Given the description of an element on the screen output the (x, y) to click on. 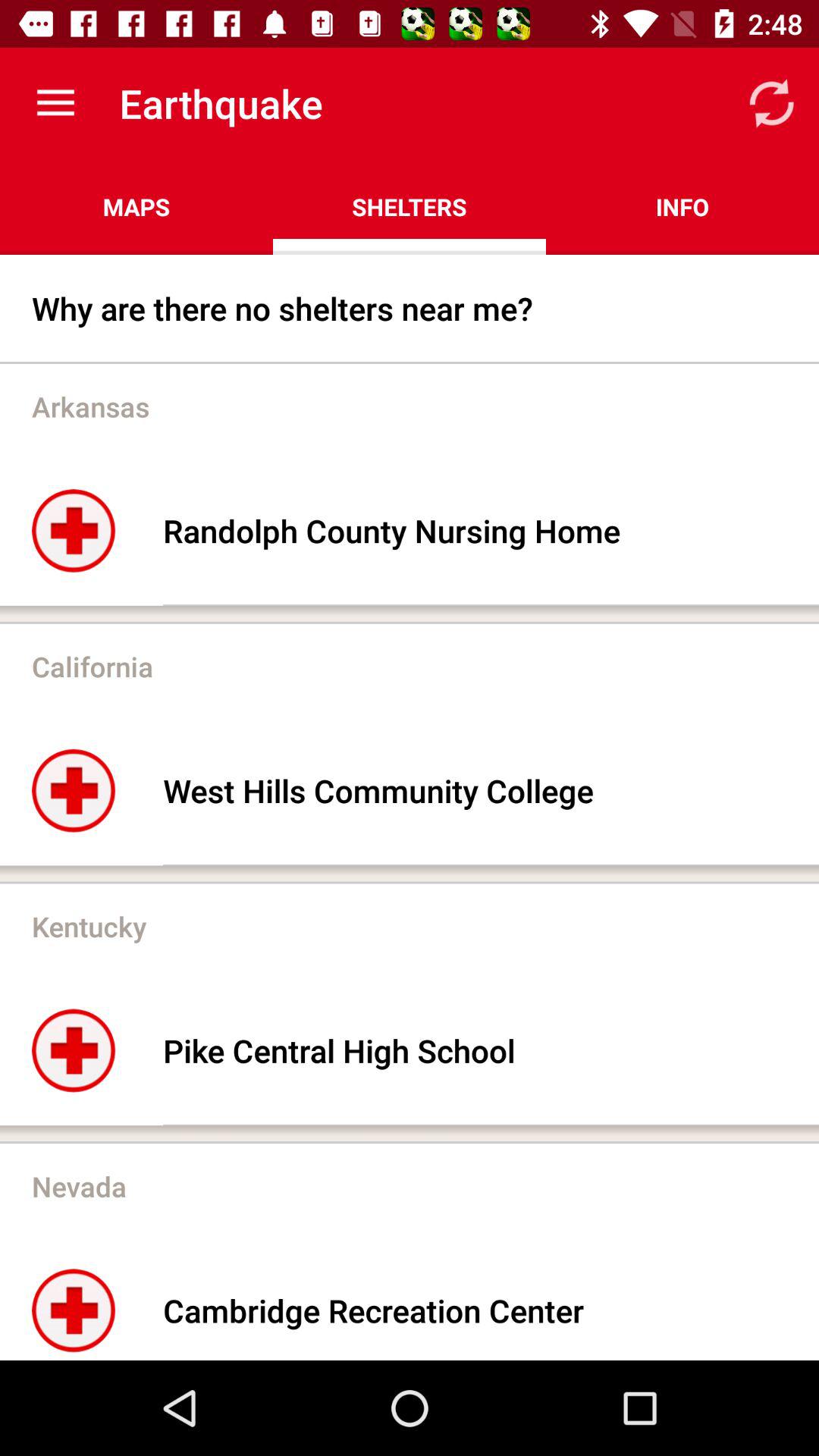
select the item above the why are there item (136, 206)
